Given the description of an element on the screen output the (x, y) to click on. 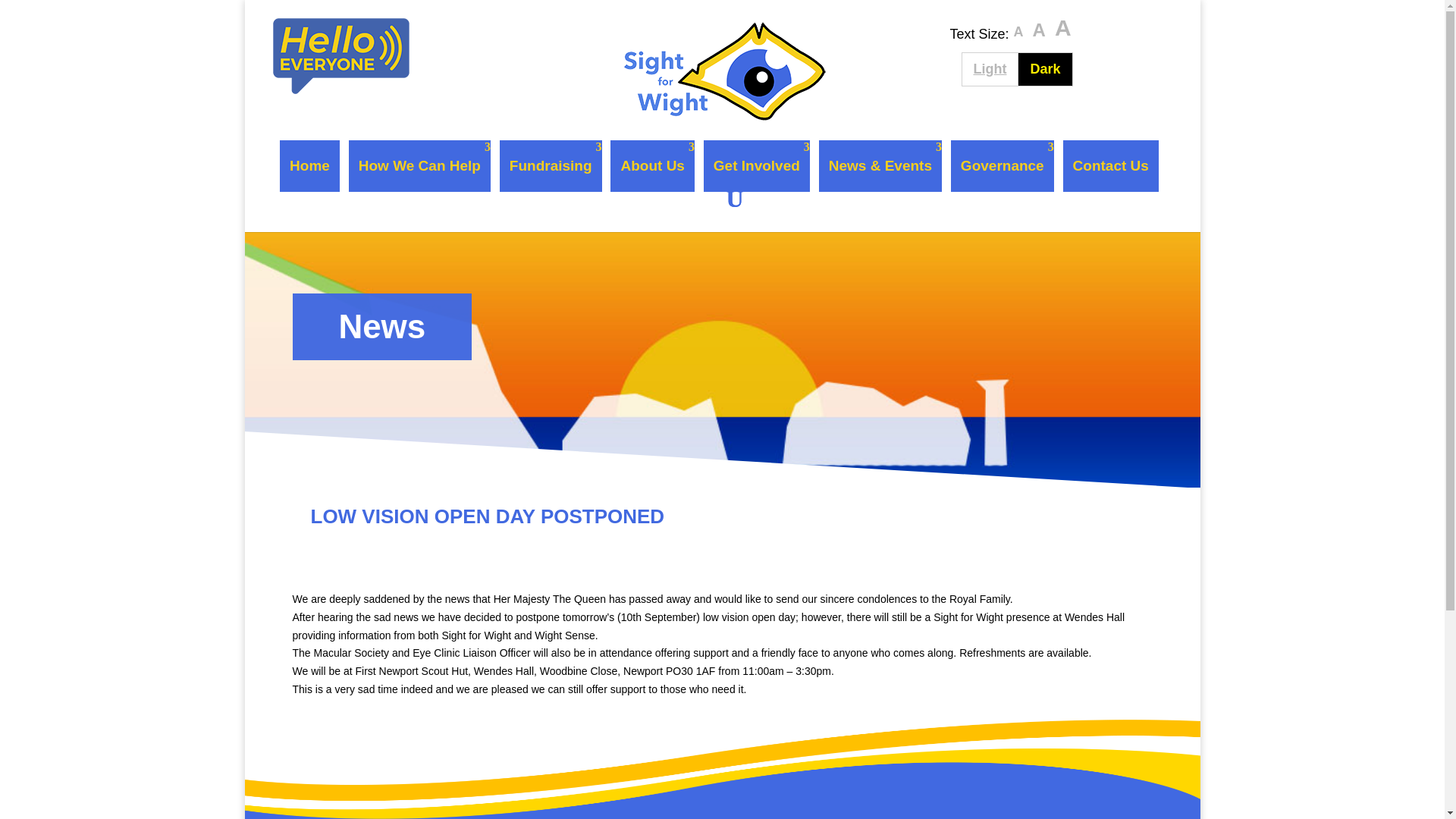
Fundraising (988, 69)
Posts by Sight For Wight (1038, 29)
How We Can Help (1062, 27)
About Us (1044, 69)
Home (550, 165)
